Given the description of an element on the screen output the (x, y) to click on. 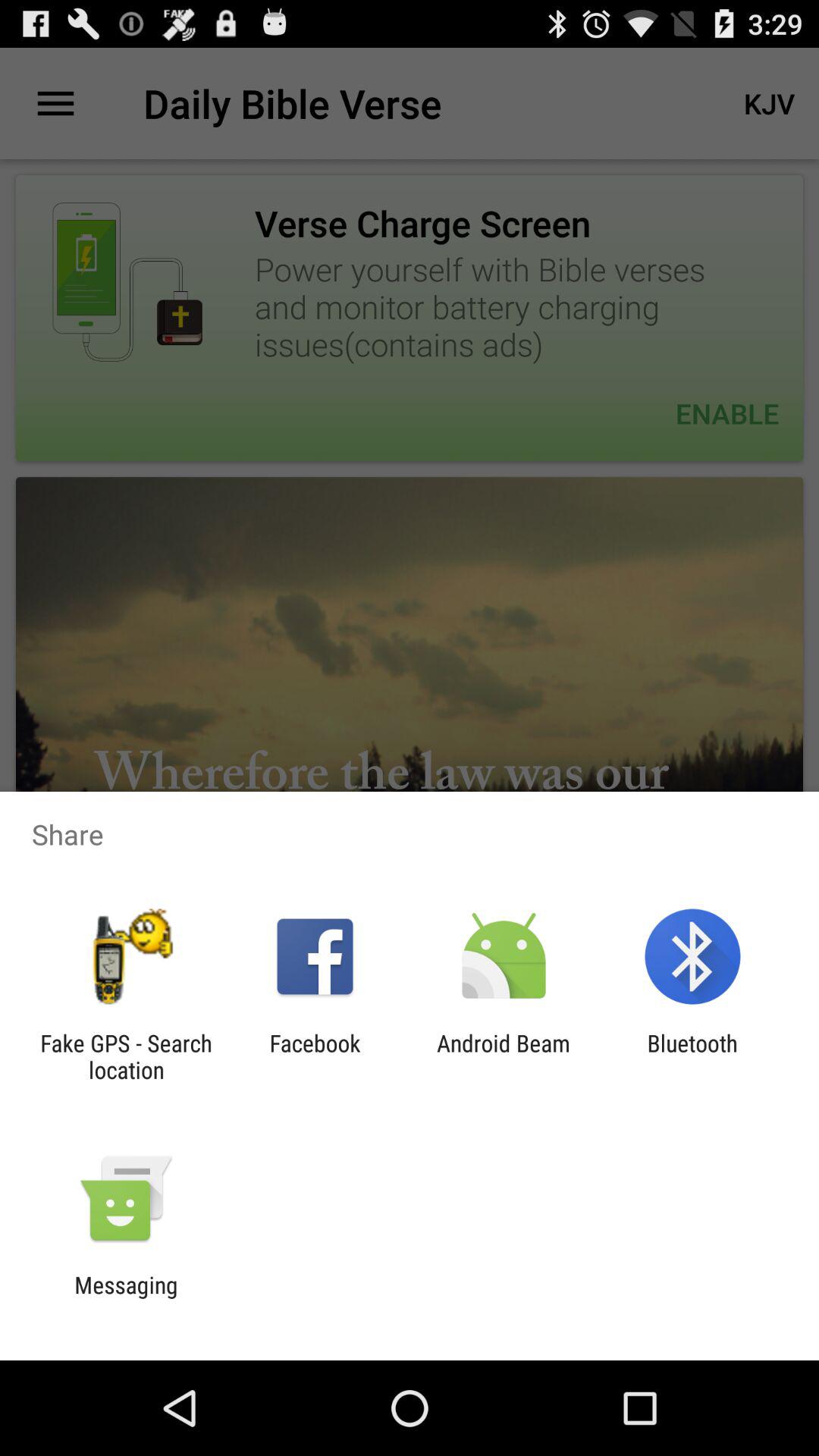
choose icon to the right of the android beam app (692, 1056)
